Given the description of an element on the screen output the (x, y) to click on. 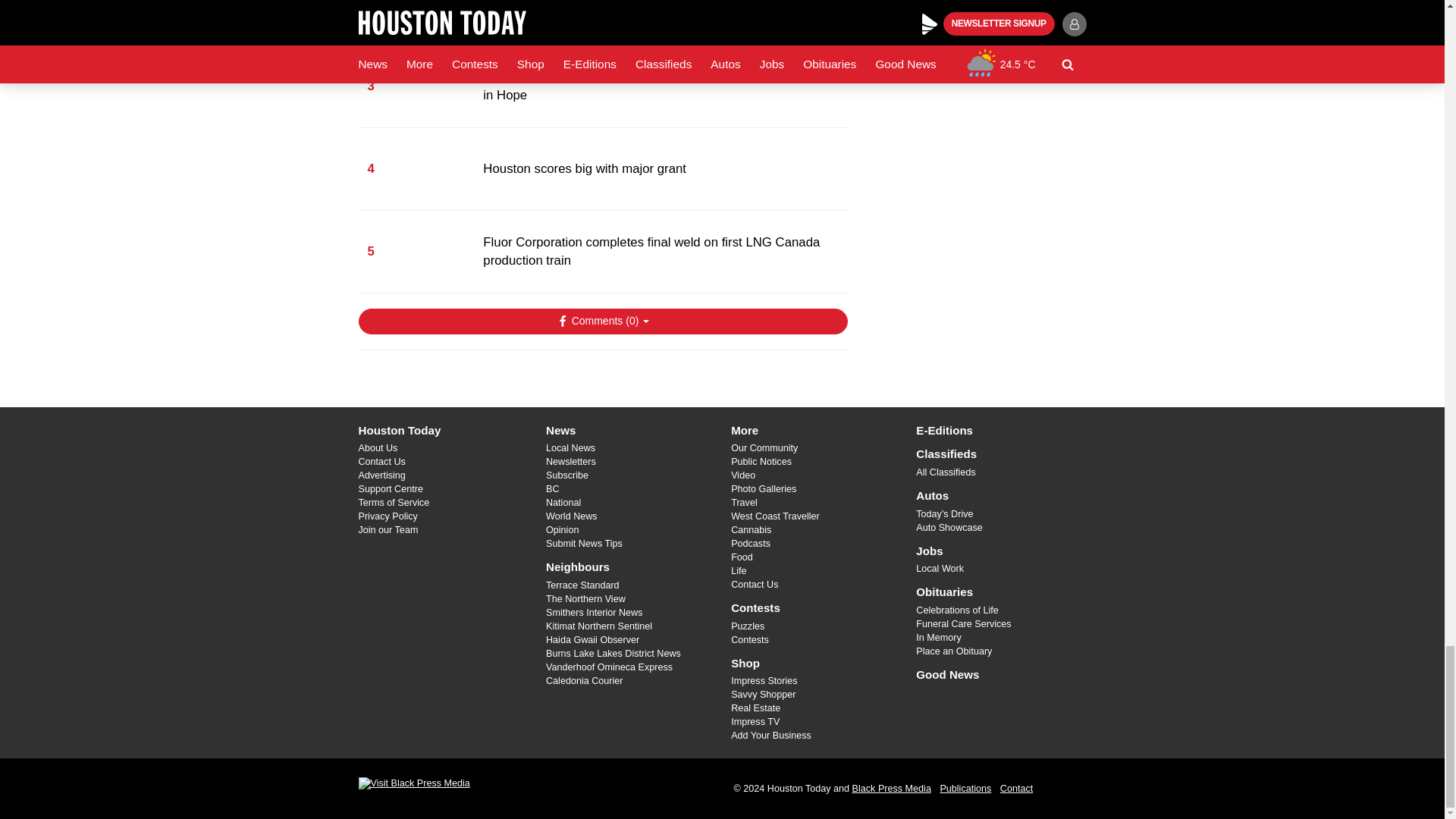
Show Comments (602, 321)
